Given the description of an element on the screen output the (x, y) to click on. 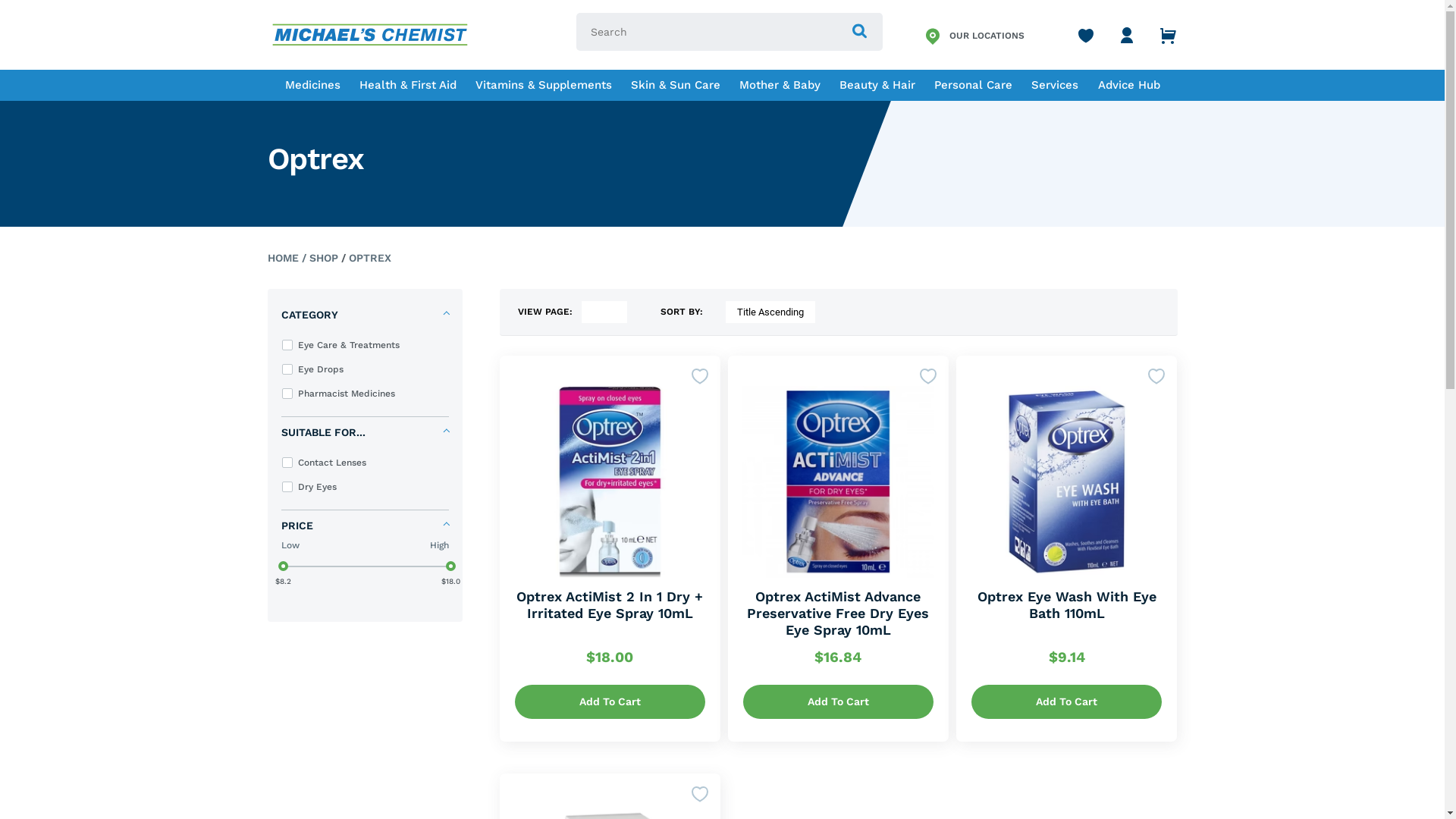
Optrex ActiMist 2 In 1 Dry + Irritated Eye Spray 10mL Element type: text (609, 604)
CATEGORY Element type: text (364, 314)
OPTREX Element type: text (369, 257)
Contact Lenses Element type: text (366, 462)
Add To Cart Element type: text (1066, 701)
Health & First Aid Element type: text (407, 84)
Pharmacist Medicines Element type: text (366, 393)
Services Element type: text (1054, 84)
Advice Hub Element type: text (1128, 84)
Eye Drops Element type: text (366, 368)
Optrex Eye Wash With Eye Bath 110mL Element type: text (1066, 604)
HOME Element type: text (282, 257)
Skin & Sun Care Element type: text (675, 84)
OUR LOCATIONS Element type: text (973, 34)
Medicines Element type: text (312, 84)
/ SHOP Element type: text (318, 257)
Dry Eyes Element type: text (366, 486)
Add To Cart Element type: text (838, 701)
Vitamins & Supplements Element type: text (543, 84)
Title Ascending Element type: text (770, 311)
SUITABLE FOR... Element type: text (364, 431)
PRICE Element type: text (364, 525)
Personal Care Element type: text (972, 84)
Add To Cart Element type: text (609, 701)
Eye Care & Treatments Element type: text (366, 344)
Beauty & Hair Element type: text (876, 84)
Mother & Baby Element type: text (779, 84)
